Given the description of an element on the screen output the (x, y) to click on. 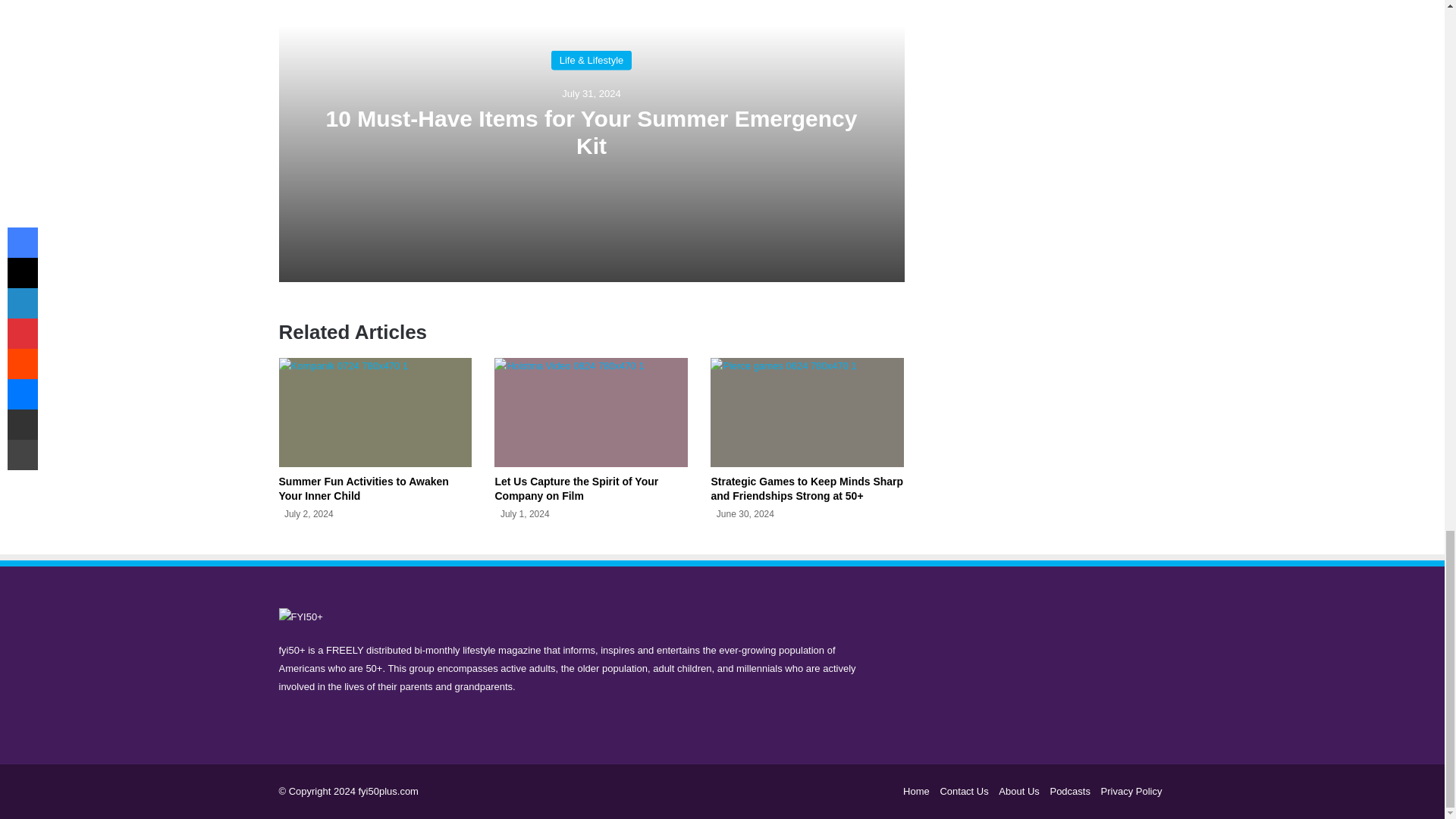
Let Us Capture the Spirit of Your Company on Film 3 (591, 411)
Summer Fun Activities to Awaken Your Inner Child 2 (375, 411)
